Given the description of an element on the screen output the (x, y) to click on. 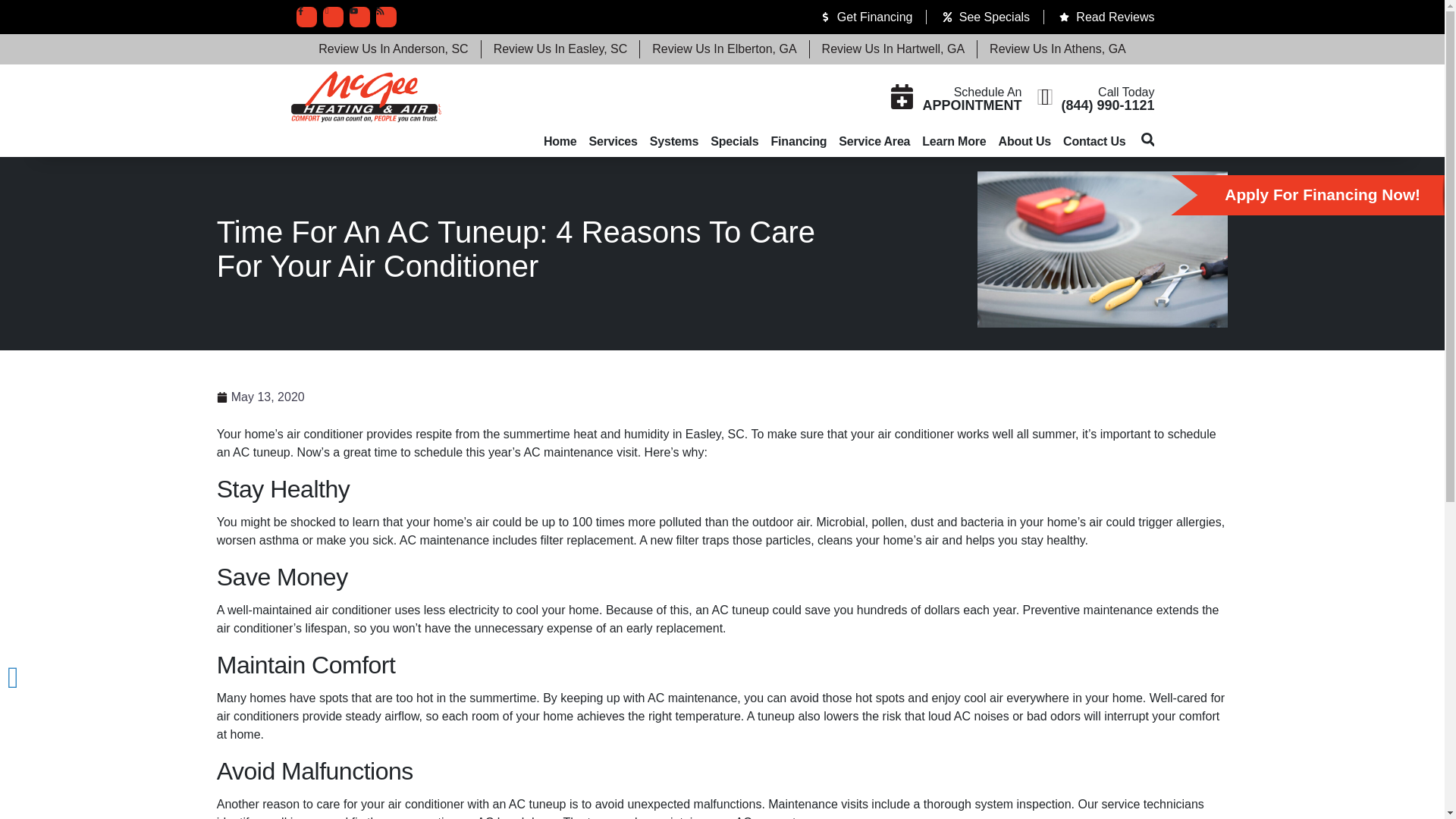
See Specials (984, 16)
Review Us In Athens, GA (1057, 49)
Get Financing (865, 16)
Review Us In Easley, SC (560, 49)
Home (559, 141)
Review Us In Elberton, GA (724, 49)
Schedule An (987, 91)
Review Us In Hartwell, GA (893, 49)
Systems (673, 141)
Read Reviews (1105, 16)
